Given the description of an element on the screen output the (x, y) to click on. 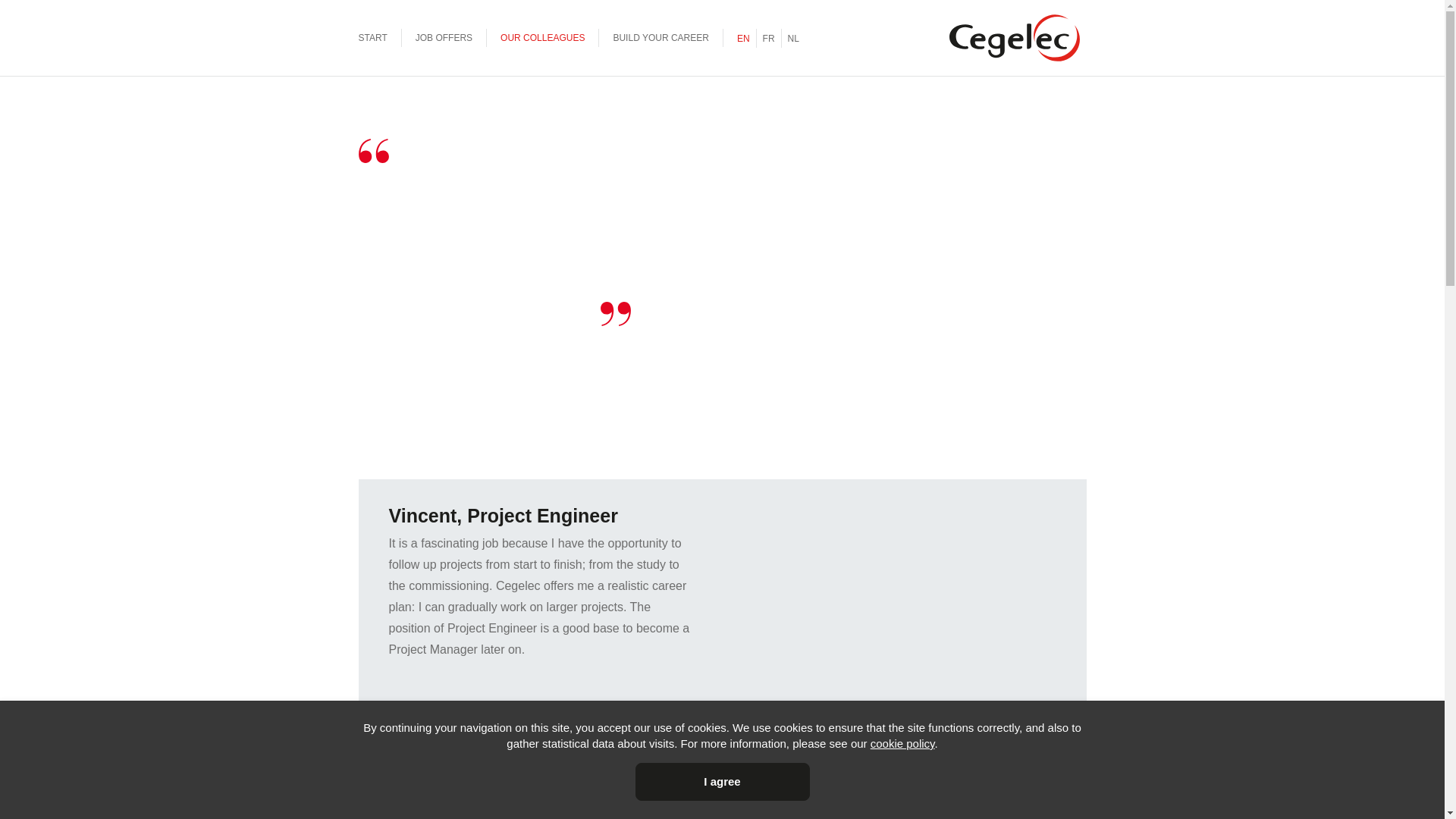
START Element type: text (372, 38)
Cegelec Element type: text (1013, 37)
BUILD YOUR CAREER Element type: text (660, 38)
JOB OFFERS Element type: text (443, 38)
NL Element type: text (793, 37)
cookie policy Element type: text (902, 743)
FR Element type: text (768, 37)
I agree Element type: text (722, 781)
EN Element type: text (743, 37)
OUR COLLEAGUES Element type: text (542, 38)
